Given the description of an element on the screen output the (x, y) to click on. 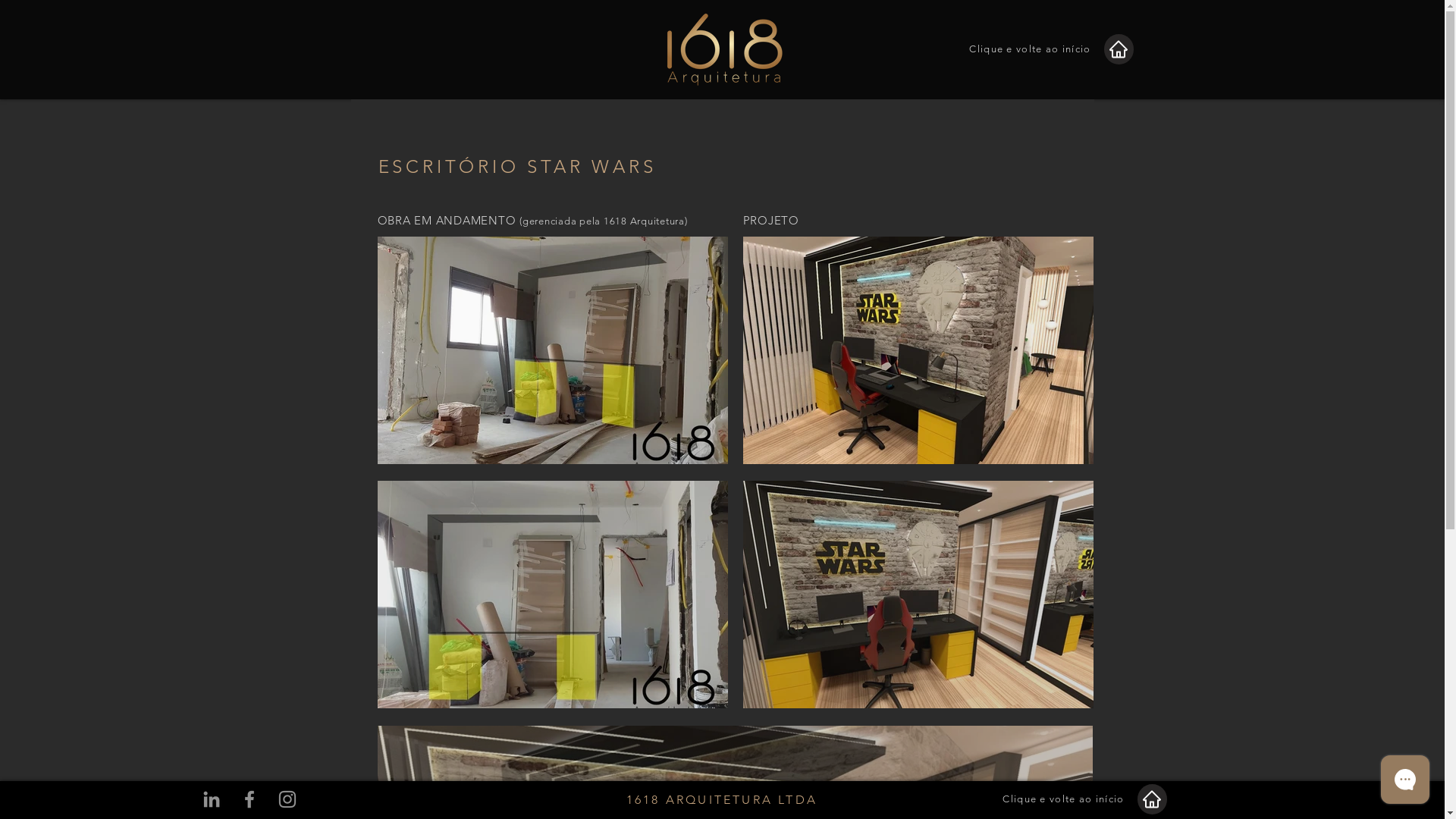
1618 ARQUITETURA LTDA Element type: text (721, 799)
